Given the description of an element on the screen output the (x, y) to click on. 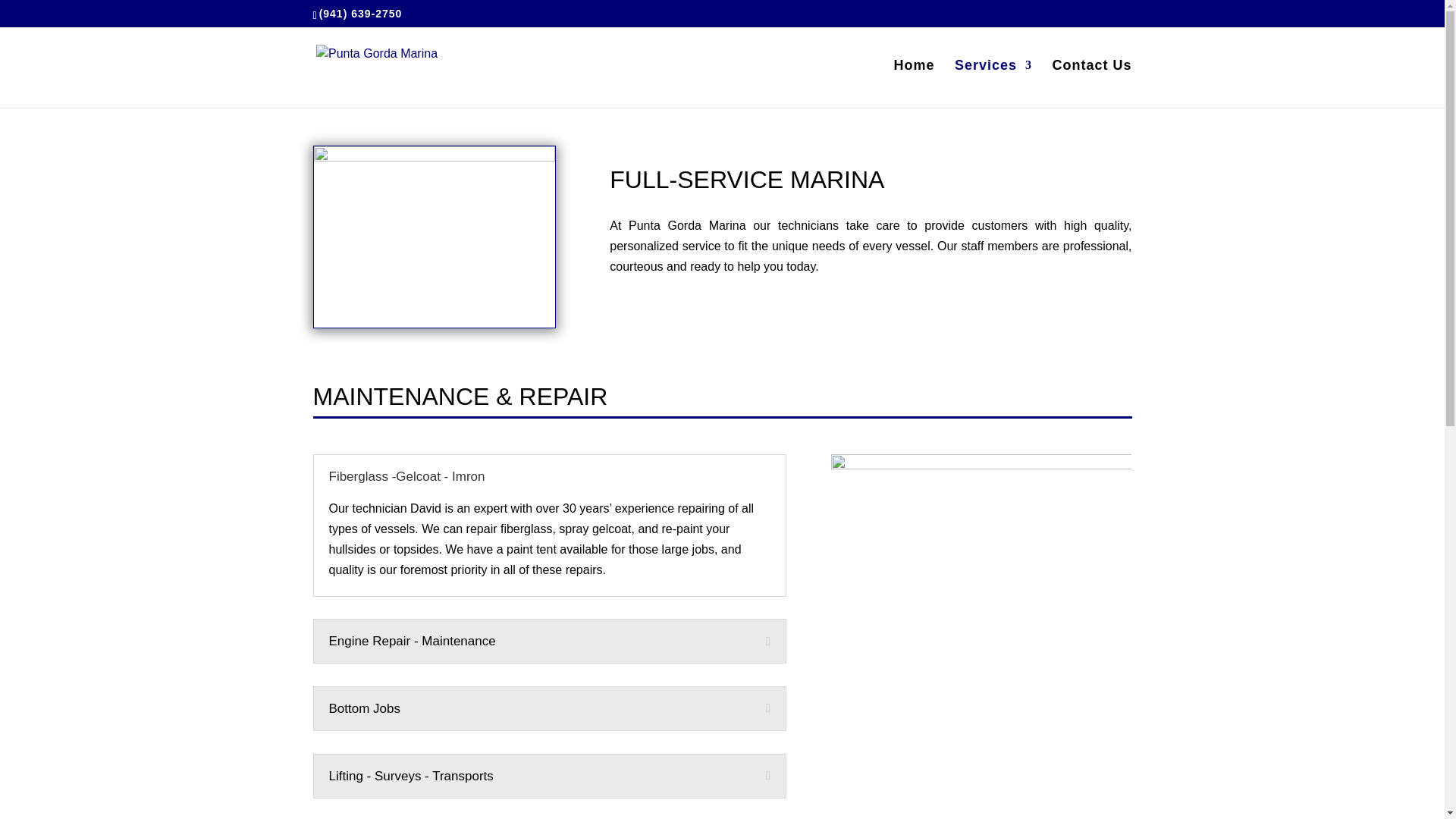
Services (993, 83)
PGM staff (434, 236)
Home (913, 83)
Contact Us (1091, 83)
PGM4 (981, 636)
